Given the description of an element on the screen output the (x, y) to click on. 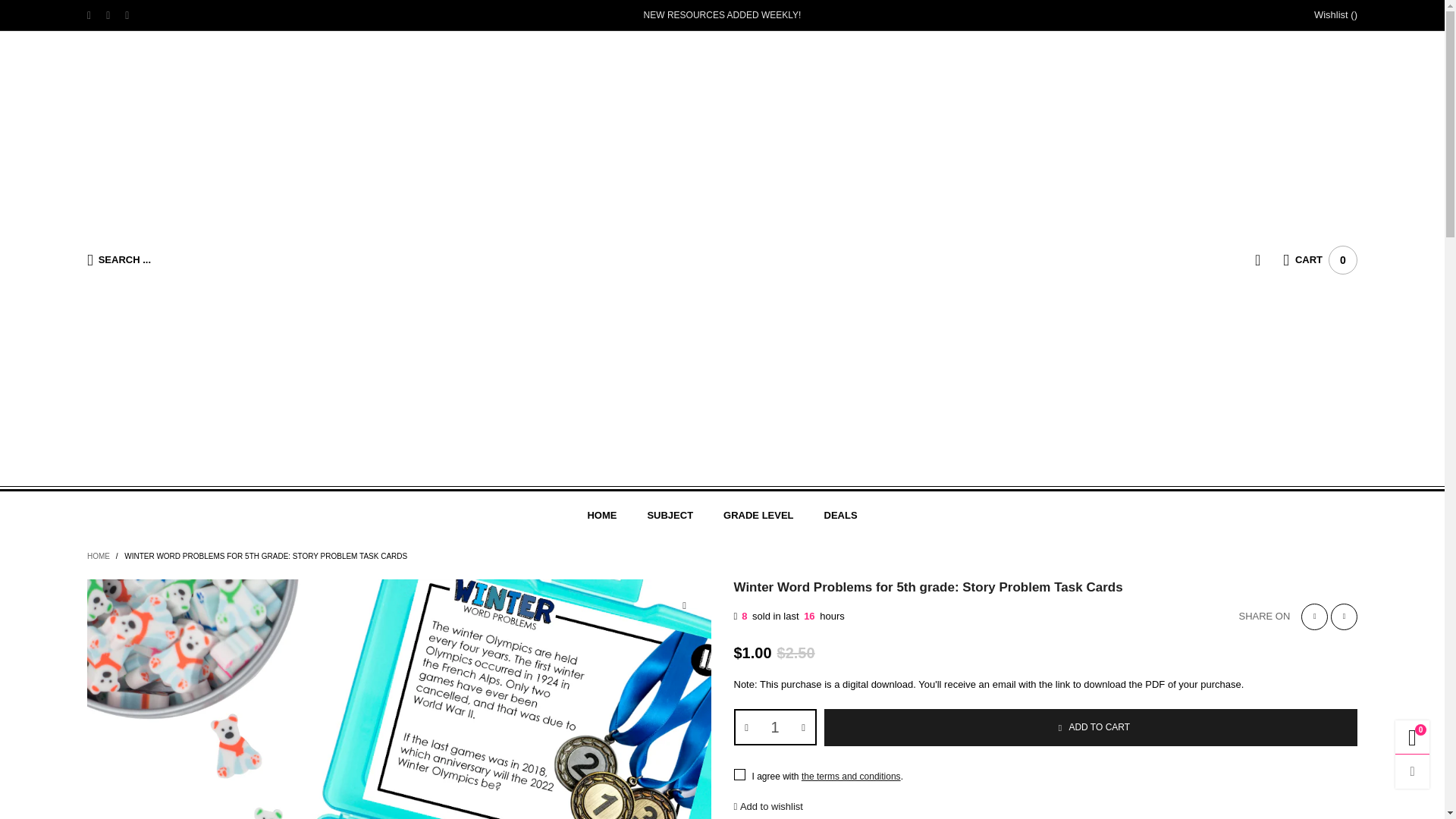
1 (775, 726)
Login (1268, 259)
GRADE LEVEL (758, 515)
SUBJECT (669, 515)
Instagram (126, 15)
HOME (600, 515)
GRADE LEVEL (758, 515)
DEALS (840, 515)
Cart (1319, 259)
HOME (600, 515)
